Given the description of an element on the screen output the (x, y) to click on. 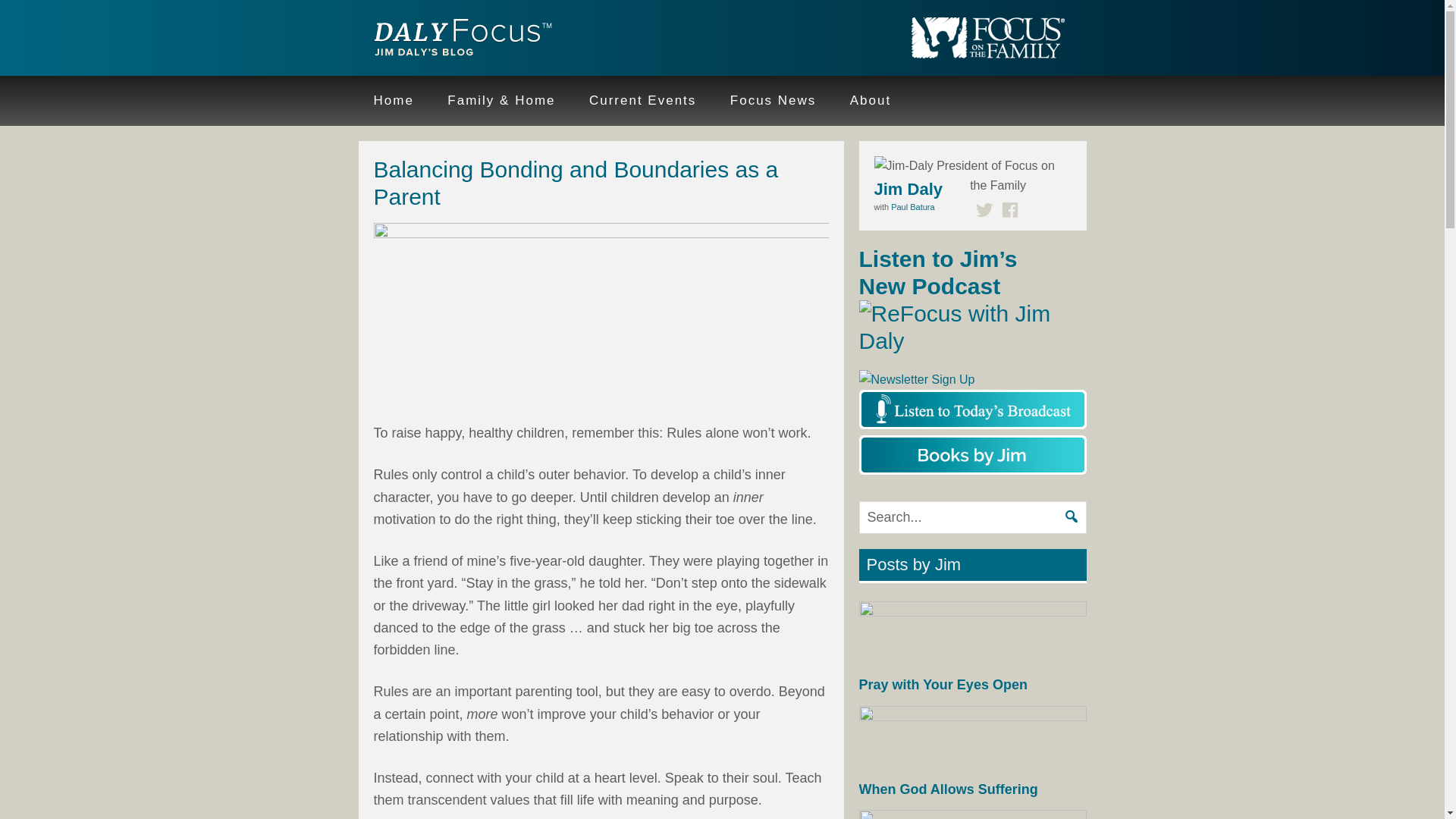
Pray with Your Eyes Open (942, 684)
Jim Daly (456, 39)
Current Events (642, 101)
Home (393, 101)
Paul Batura (912, 206)
Jim Daly (907, 188)
About (869, 101)
Focus News (772, 101)
